Given the description of an element on the screen output the (x, y) to click on. 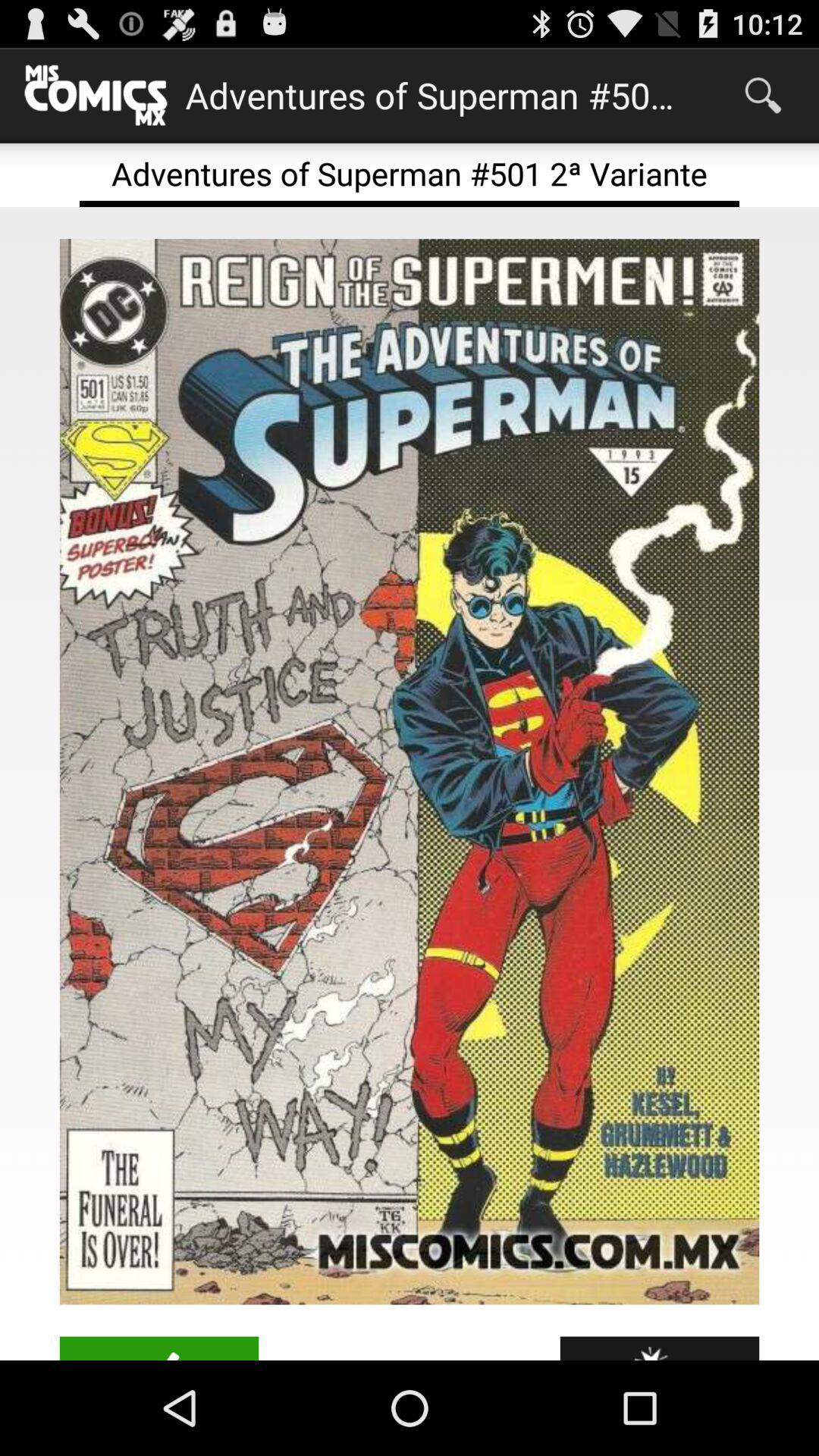
turn on icon next to adventures of superman app (763, 95)
